Given the description of an element on the screen output the (x, y) to click on. 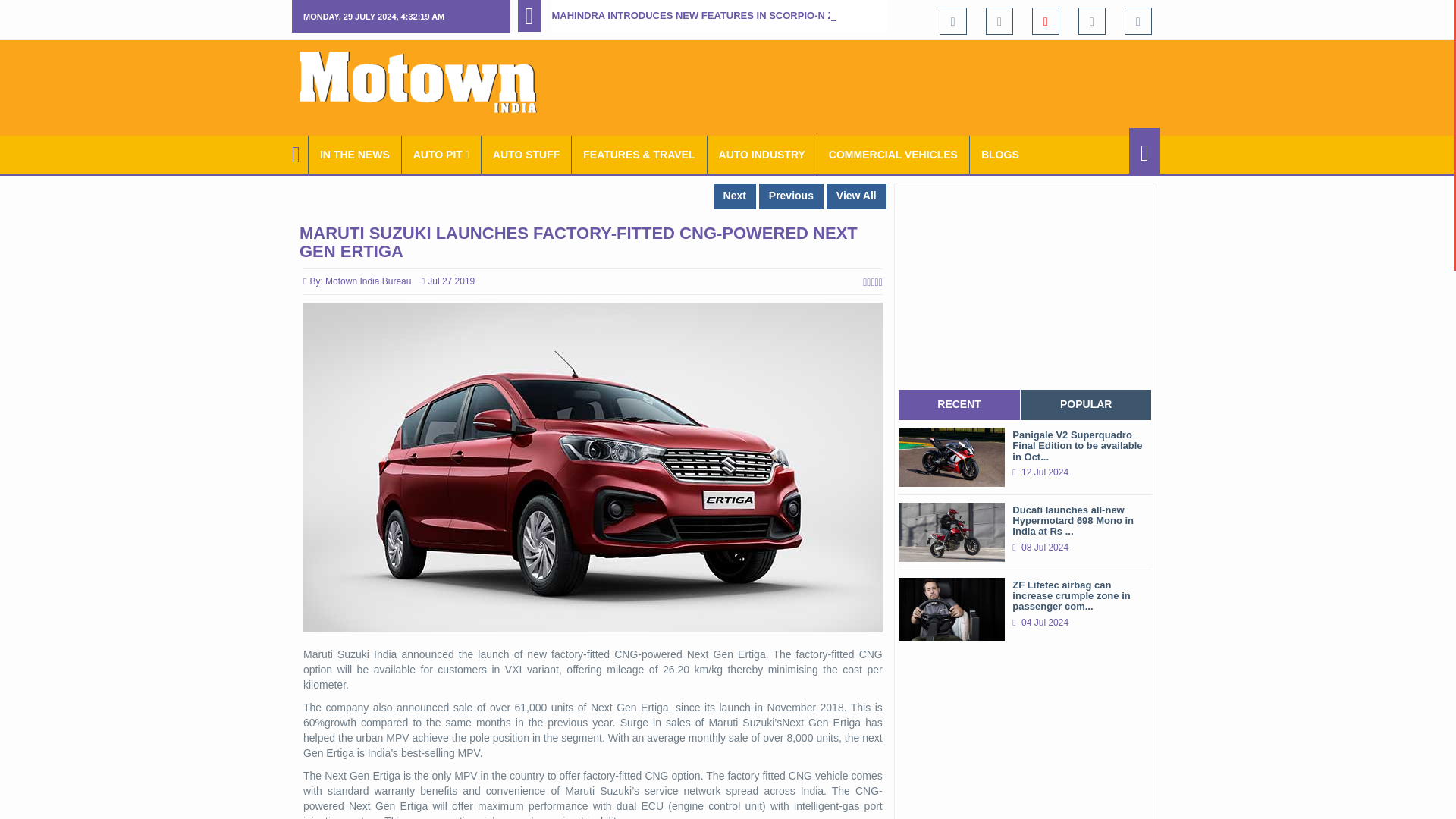
Advertisement (884, 85)
View All - Motown India (856, 196)
Mahindra Bolero is now BS VI ready with ICAT certification (791, 196)
Auto Stuff by Motown India (526, 154)
BLOGS (999, 154)
Motown India on Instagram (1091, 17)
View All In The News - Motown India (354, 154)
Motown India on LinkedIn (1137, 17)
View All (856, 196)
Mahindra introduces new features in Scorpio-N Z8 range (714, 15)
MAHINDRA INTRODUCES NEW FEATURES IN SCORPIO-N Z8 RANGE (714, 15)
Motown India on Twitter (999, 15)
Previous (791, 196)
Motown India on YouTube (1045, 16)
COMMERCIAL VEHICLES by Motown India (892, 154)
